Given the description of an element on the screen output the (x, y) to click on. 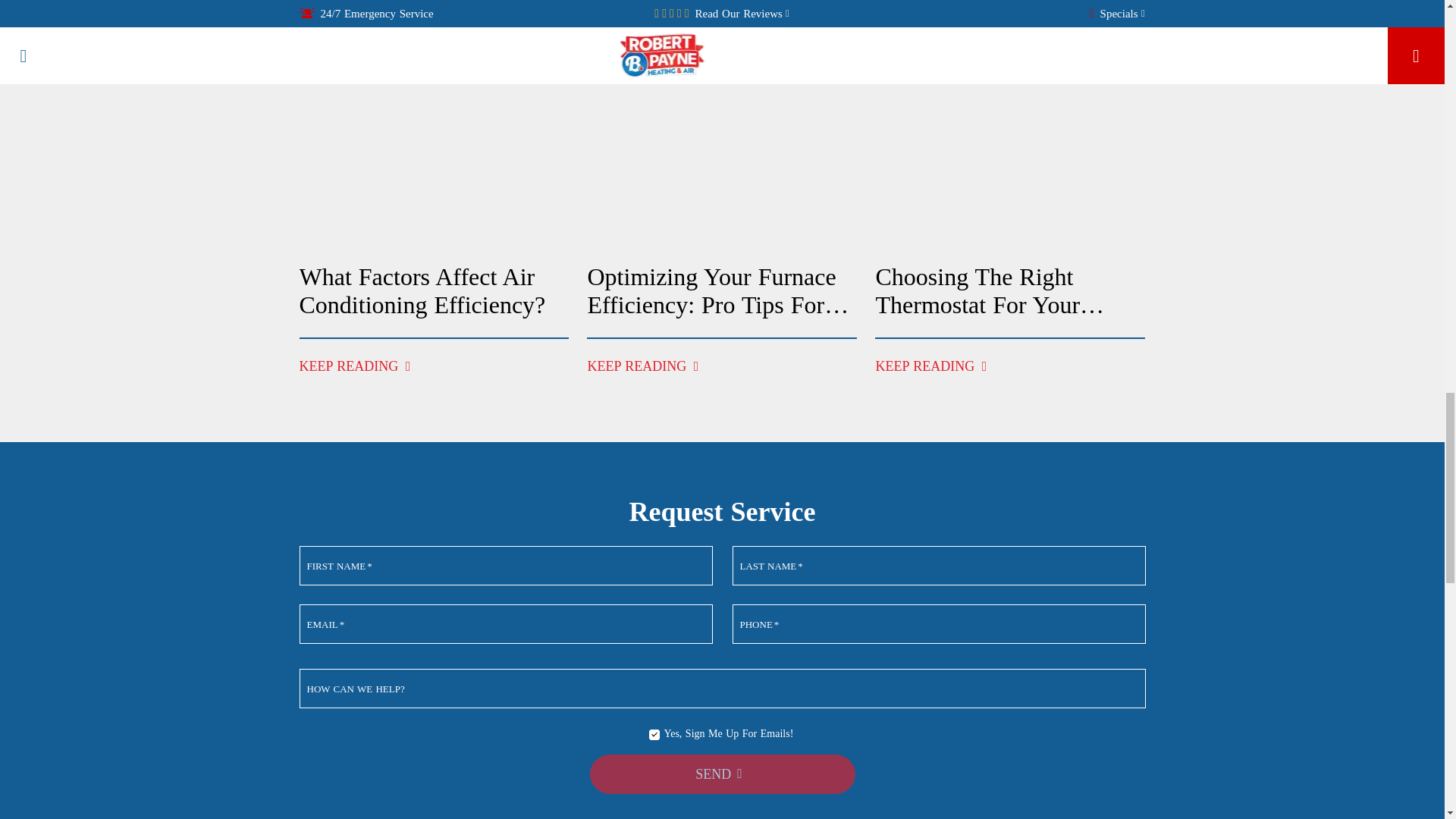
Yes, sign me up for emails! (654, 734)
